Given the description of an element on the screen output the (x, y) to click on. 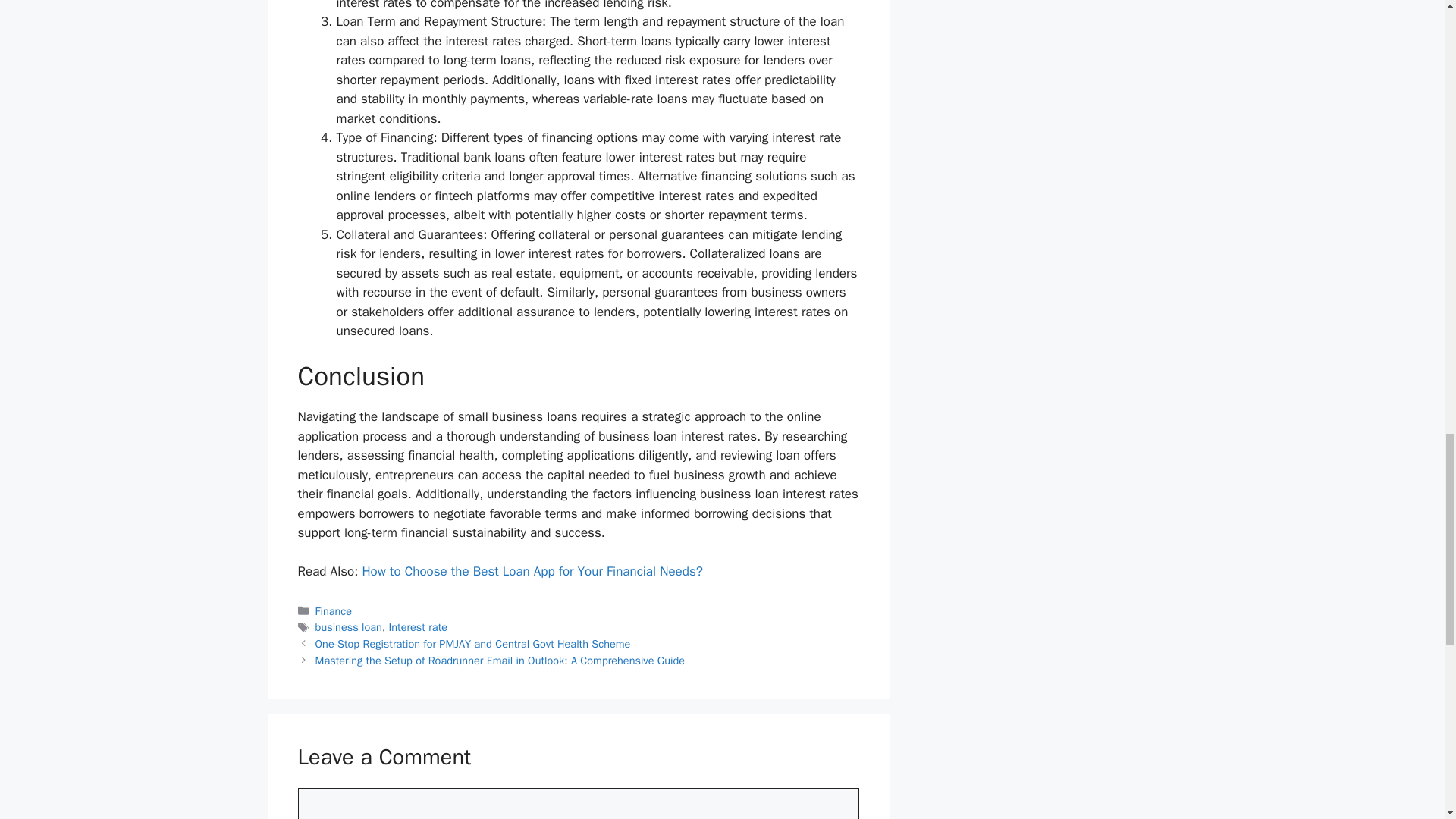
business loan (348, 626)
How to Choose the Best Loan App for Your Financial Needs? (532, 571)
Finance (333, 611)
Interest rate (417, 626)
